Given the description of an element on the screen output the (x, y) to click on. 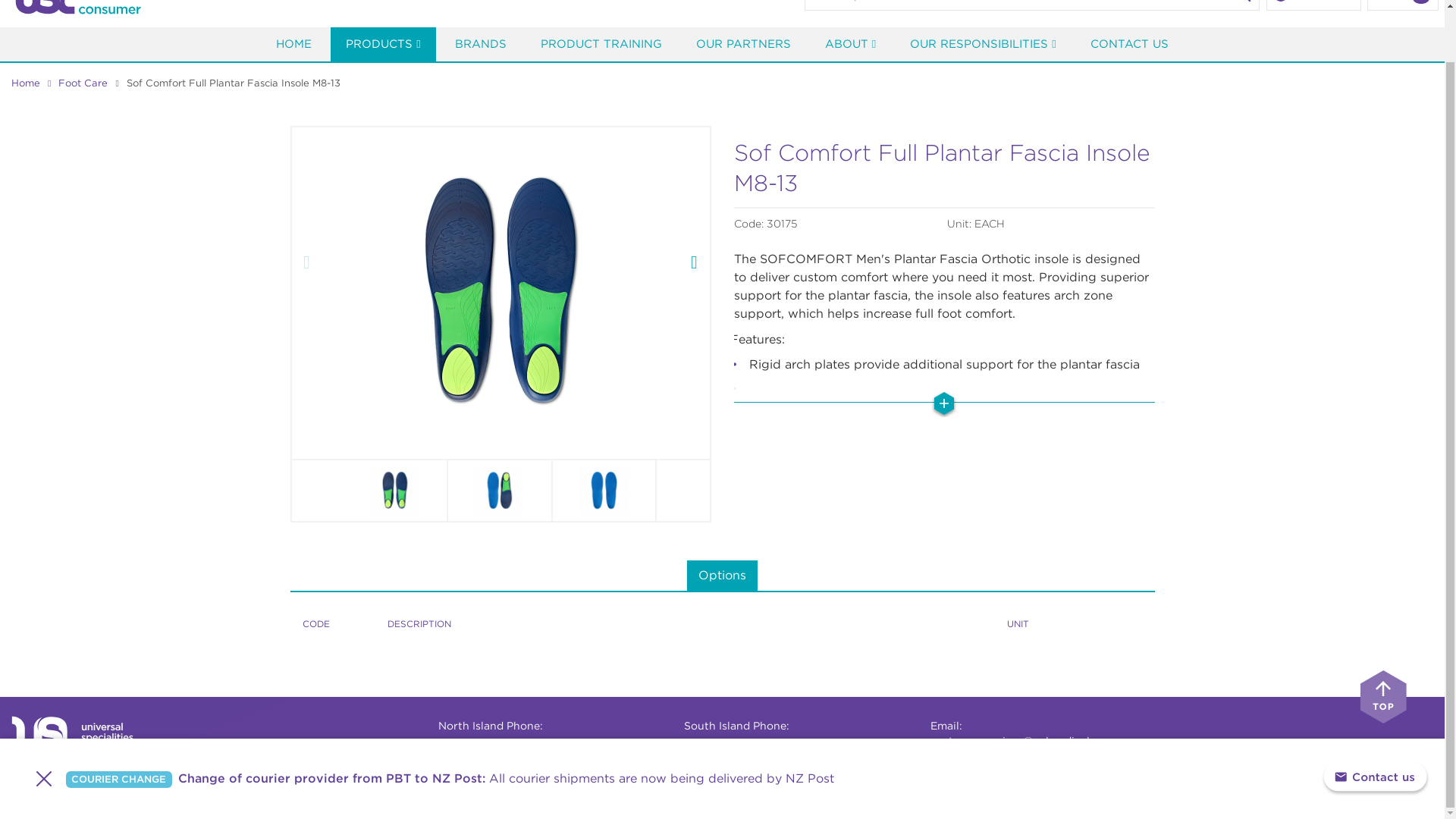
BRANDS (480, 44)
PRODUCTS (382, 44)
PRODUCT TRAINING (601, 44)
QUOTE 0 (1402, 5)
SIGN IN (1313, 5)
HOME (293, 44)
ABOUT (850, 44)
OUR PARTNERS (743, 44)
OUR RESPONSIBILITIES (982, 44)
